Given the description of an element on the screen output the (x, y) to click on. 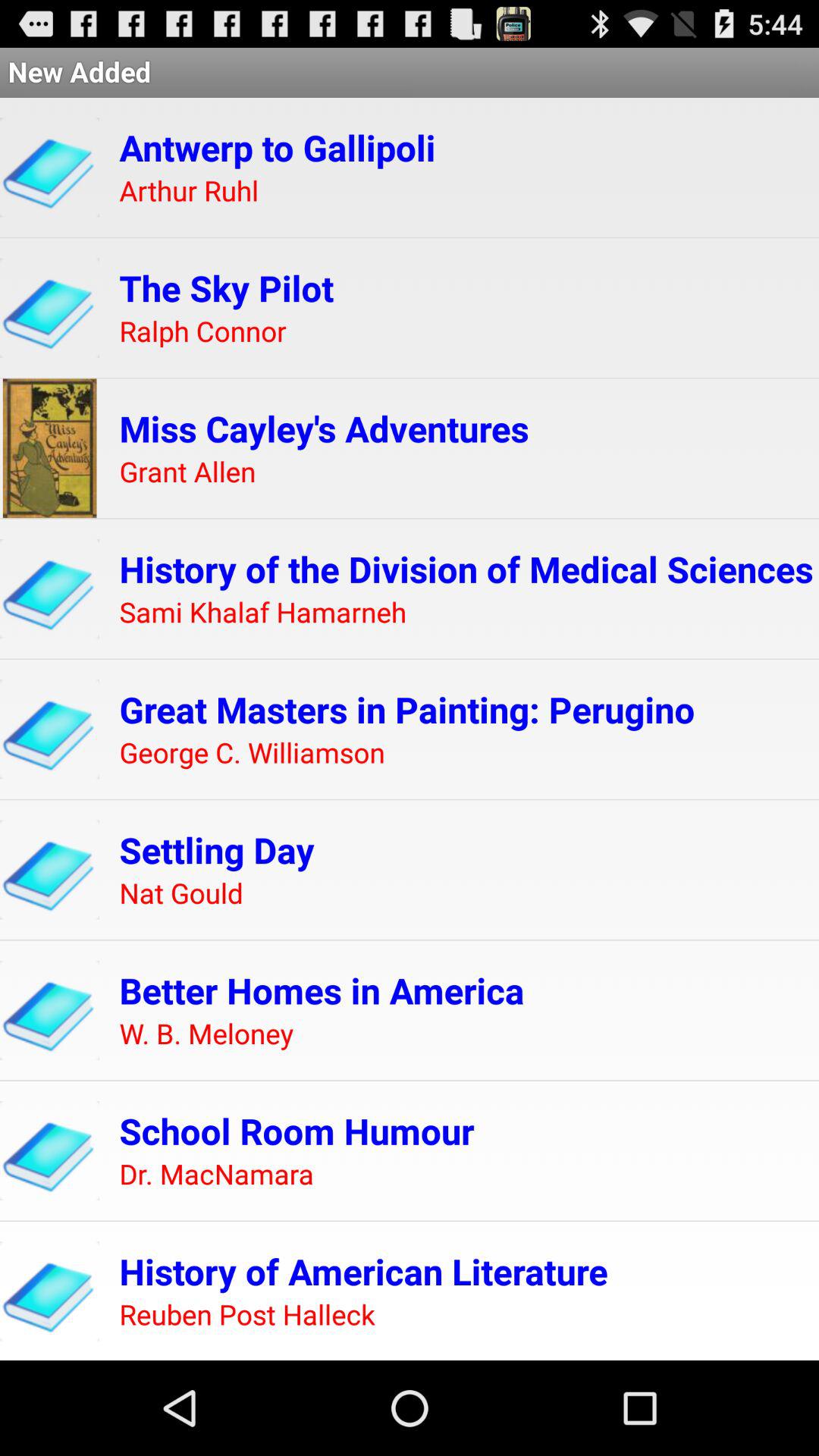
jump until arthur ruhl item (188, 191)
